Given the description of an element on the screen output the (x, y) to click on. 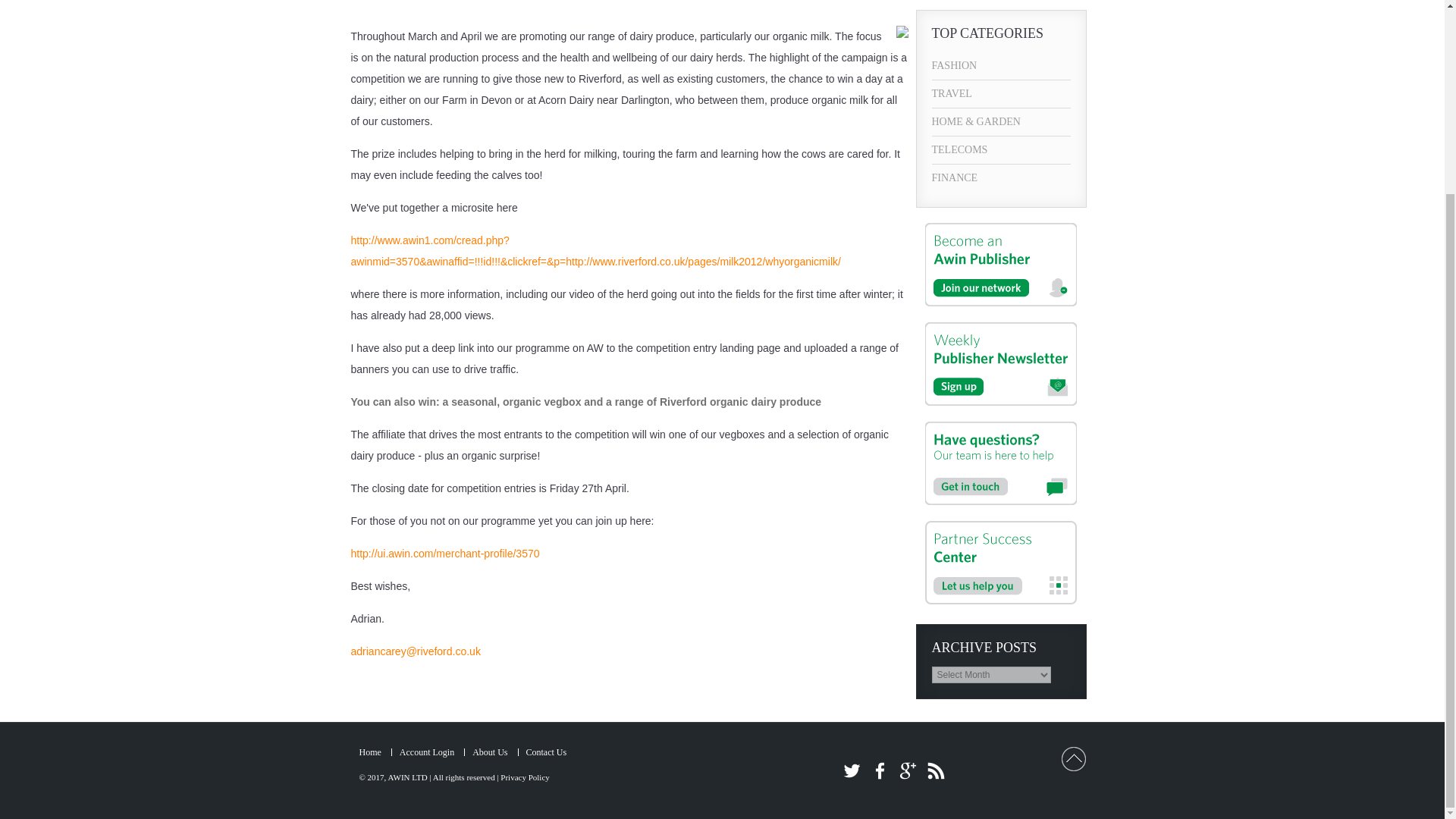
FASHION (1000, 65)
Contact Us (546, 752)
Home (370, 752)
Privacy Policy (524, 777)
TRAVEL (1000, 93)
FINANCE (1000, 177)
Account Login (426, 752)
TELECOMS (1000, 149)
About Us (488, 752)
